Given the description of an element on the screen output the (x, y) to click on. 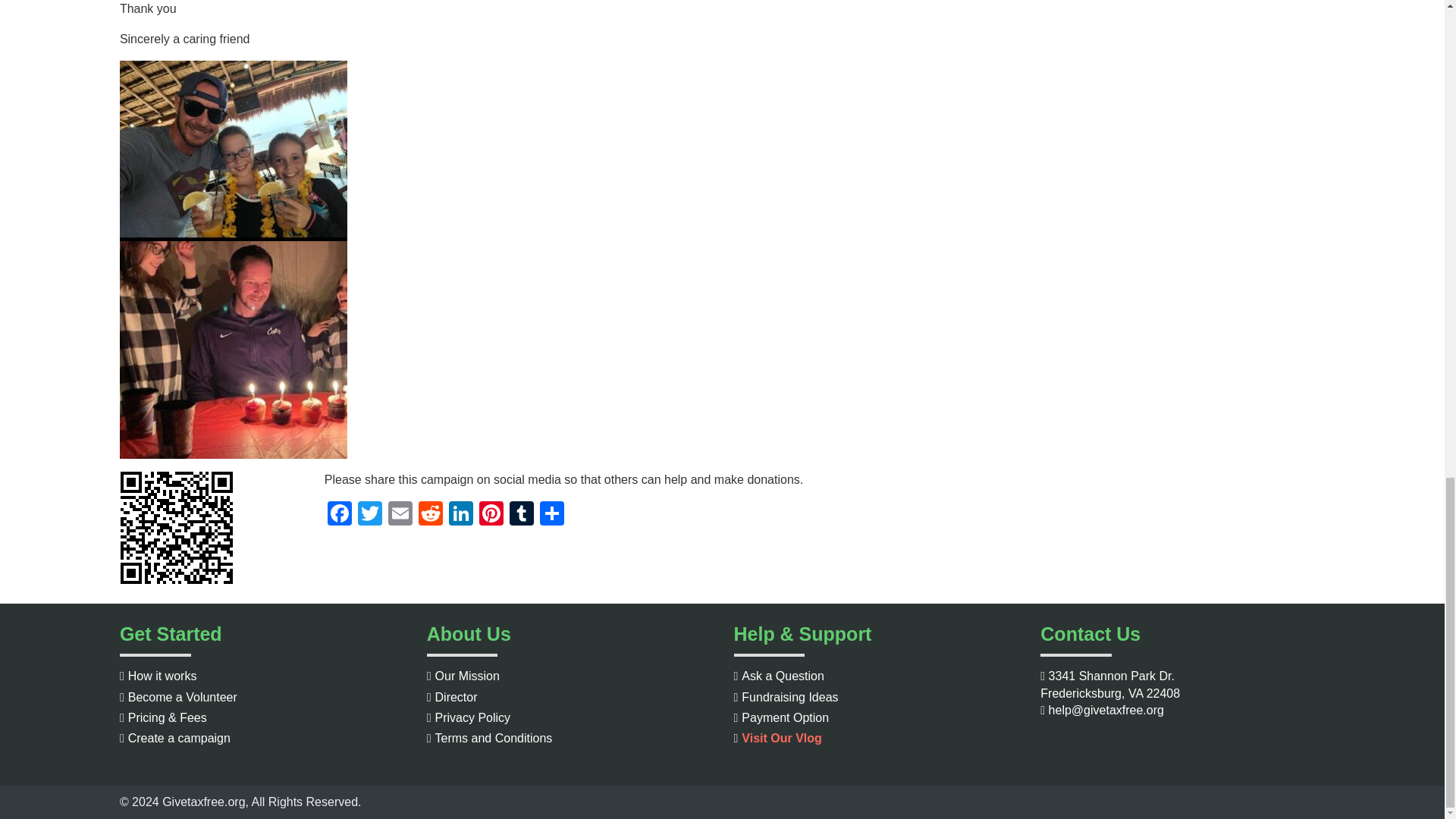
Tumblr (521, 515)
Facebook (339, 515)
LinkedIn (460, 515)
Share (552, 515)
Twitter (370, 515)
Email (399, 515)
Reddit (429, 515)
Pinterest (491, 515)
